Given the description of an element on the screen output the (x, y) to click on. 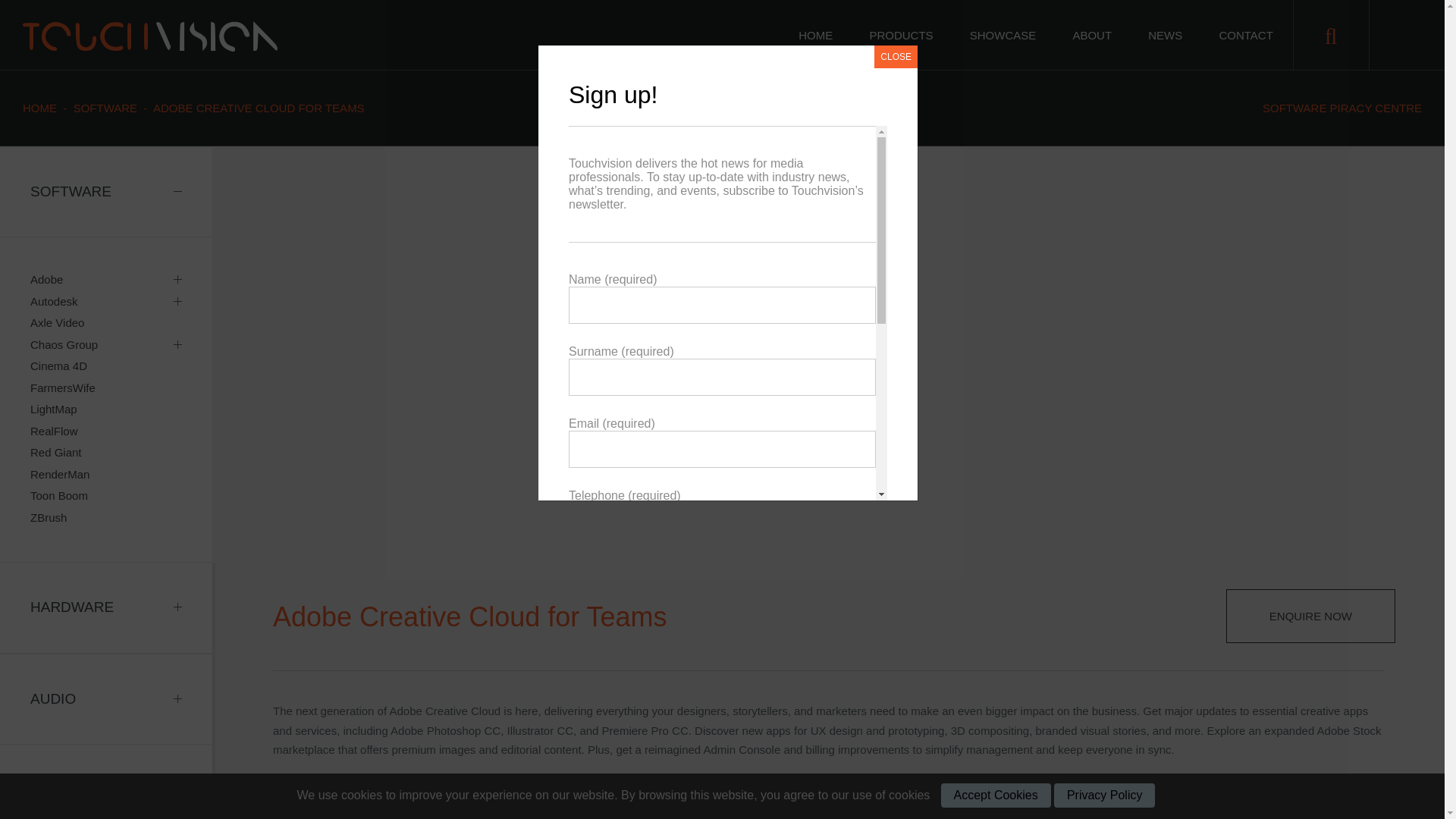
Go to Touchvision. (39, 107)
Send (722, 783)
1 (585, 724)
Go to the Software Category archives. (105, 107)
Go to Adobe Creative Cloud for Teams. (258, 107)
